Given the description of an element on the screen output the (x, y) to click on. 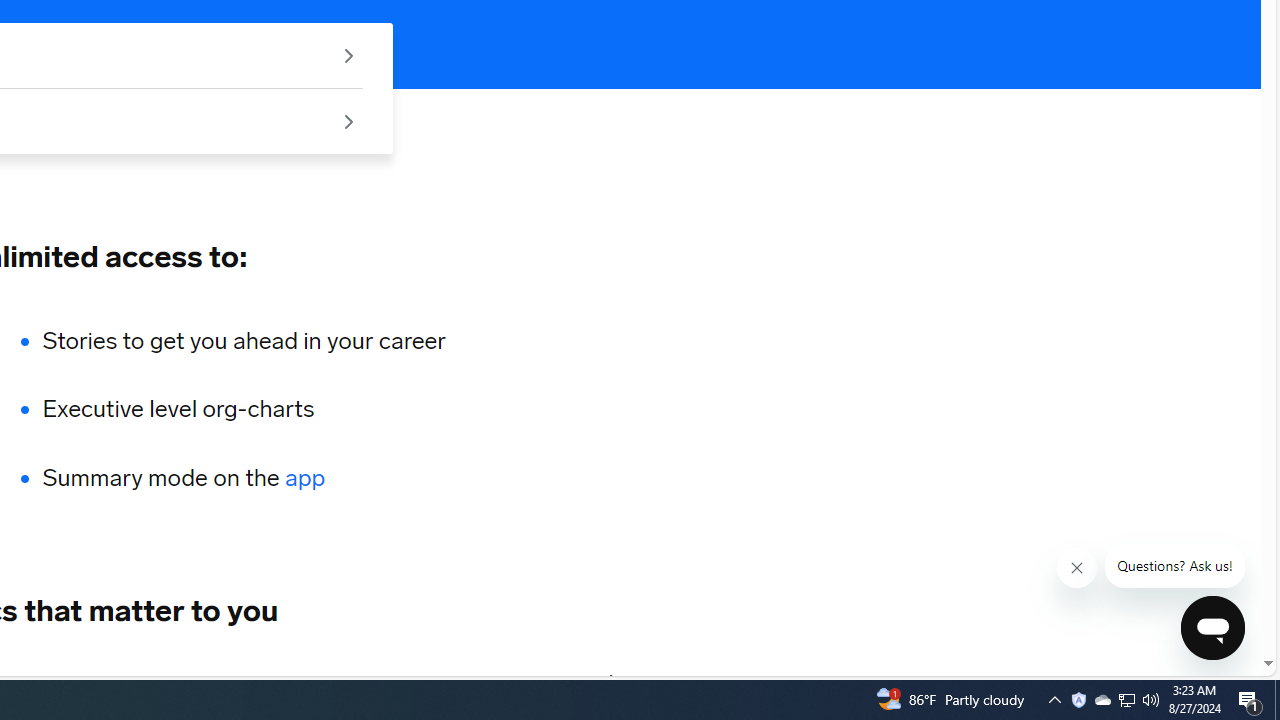
Executive level org-charts (243, 409)
Questions? Ask us! (1174, 566)
